Given the description of an element on the screen output the (x, y) to click on. 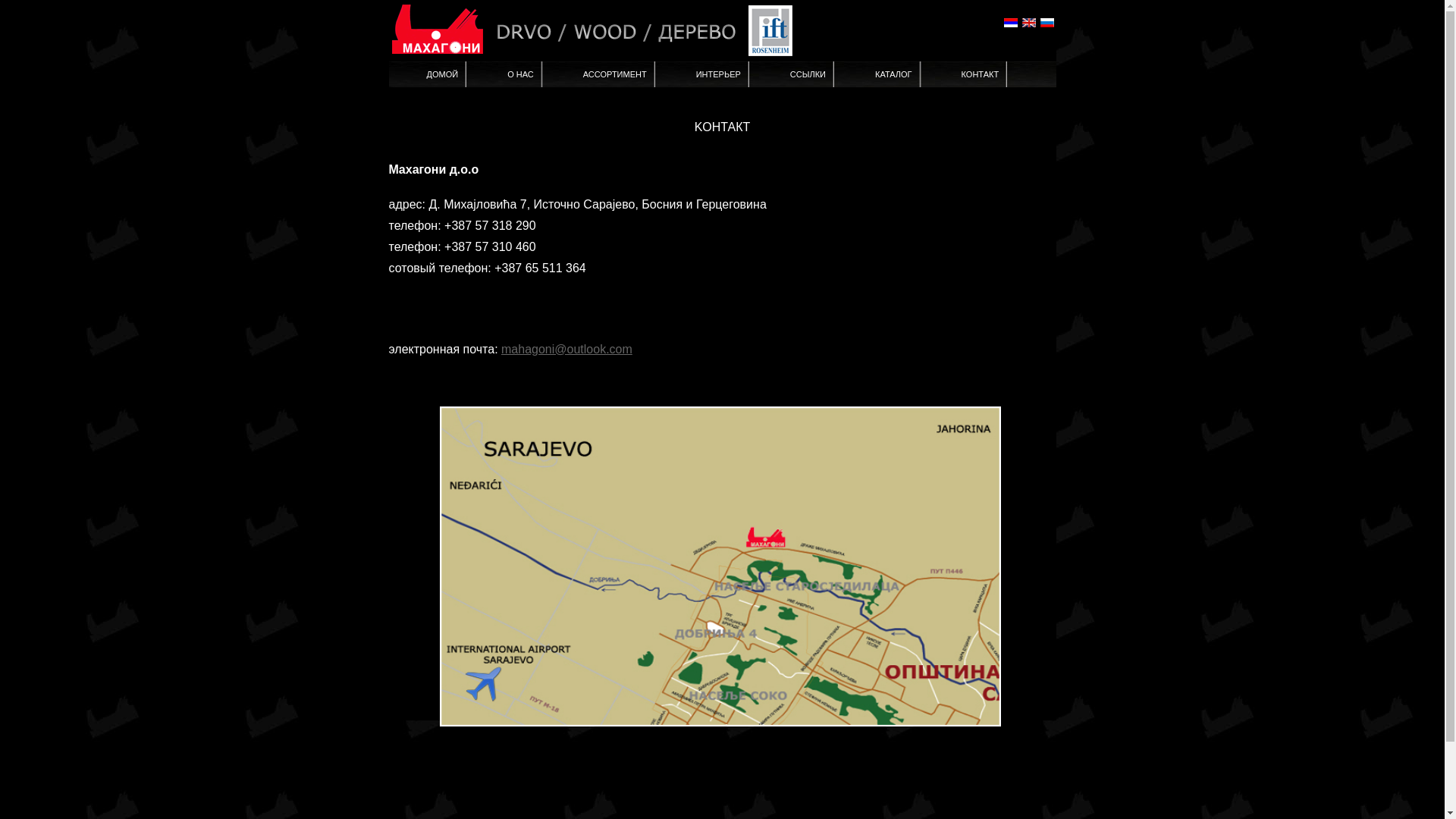
Serbian Element type: hover (1009, 22)
Russian  Element type: hover (1046, 22)
mahagoni@outlook.com Element type: text (566, 348)
English  Element type: hover (1027, 22)
